Given the description of an element on the screen output the (x, y) to click on. 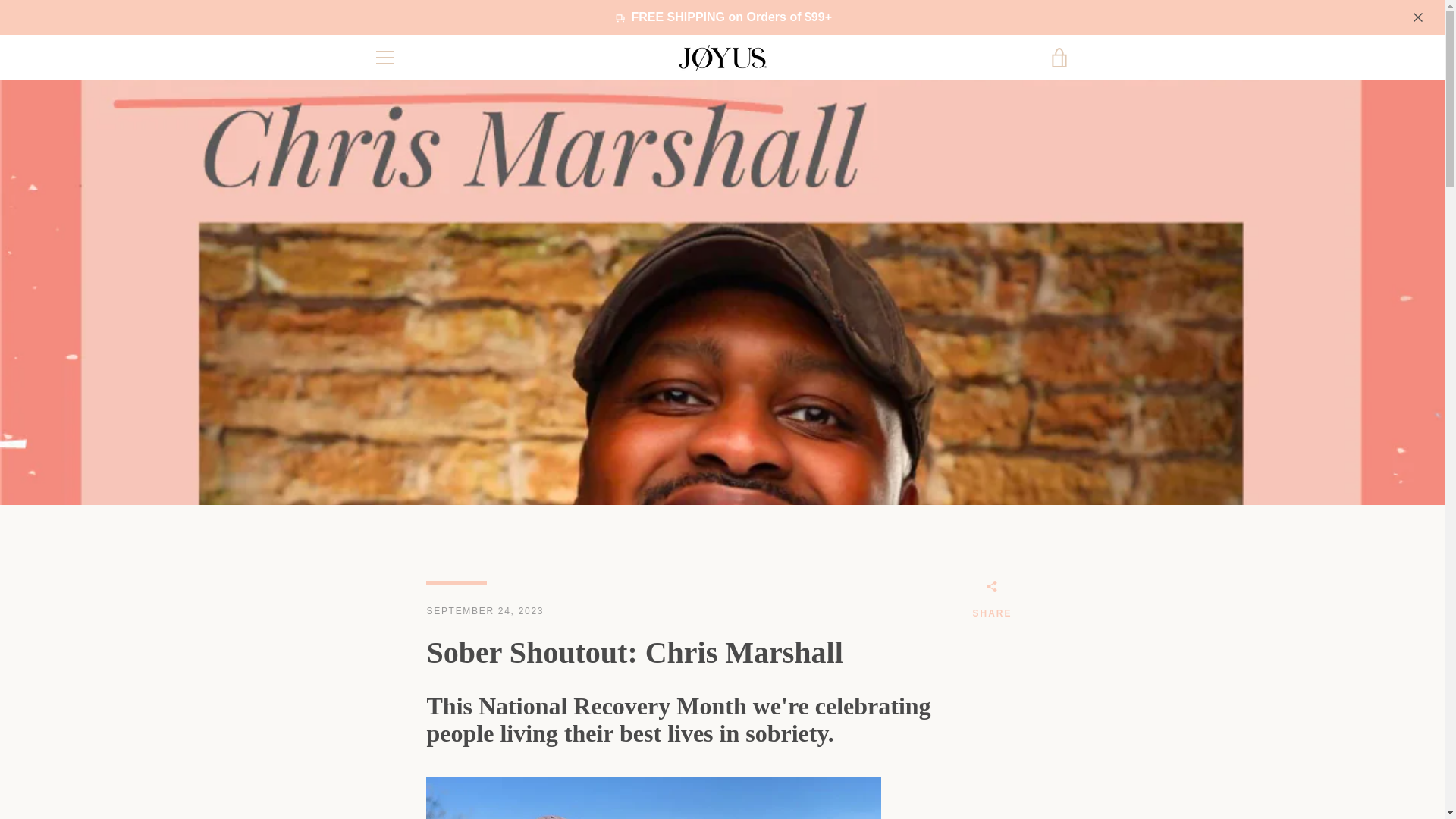
Visa (1057, 778)
Diners Club (953, 755)
MENU (384, 57)
VIEW CART (1059, 57)
Apple Pay (918, 755)
Meta Pay (1022, 755)
Mastercard (988, 778)
Shop Pay (1022, 778)
SHARE (991, 601)
Discover (988, 755)
Google Pay (1057, 755)
American Express (883, 755)
